Given the description of an element on the screen output the (x, y) to click on. 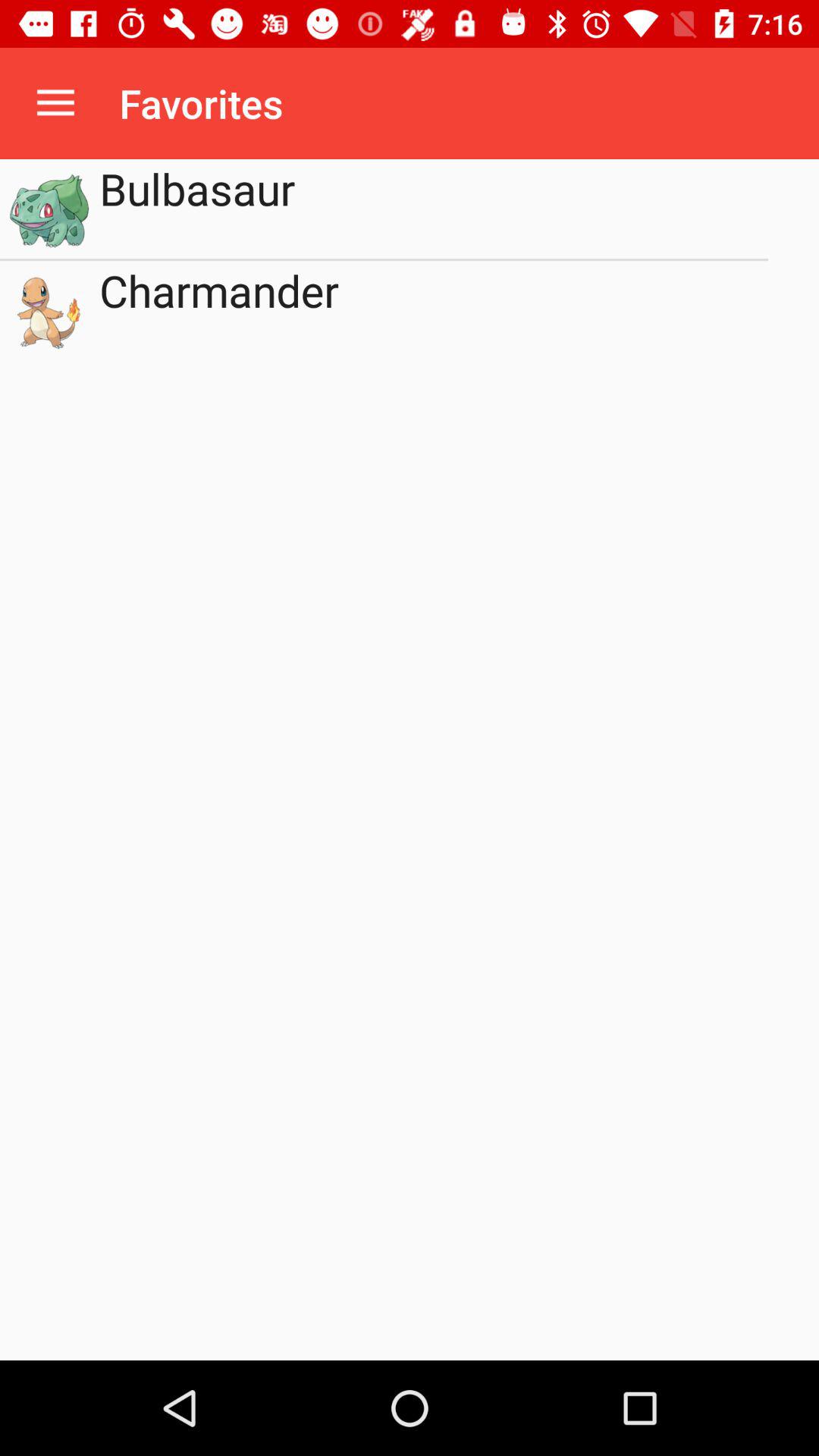
jump to the bulbasaur item (433, 208)
